Given the description of an element on the screen output the (x, y) to click on. 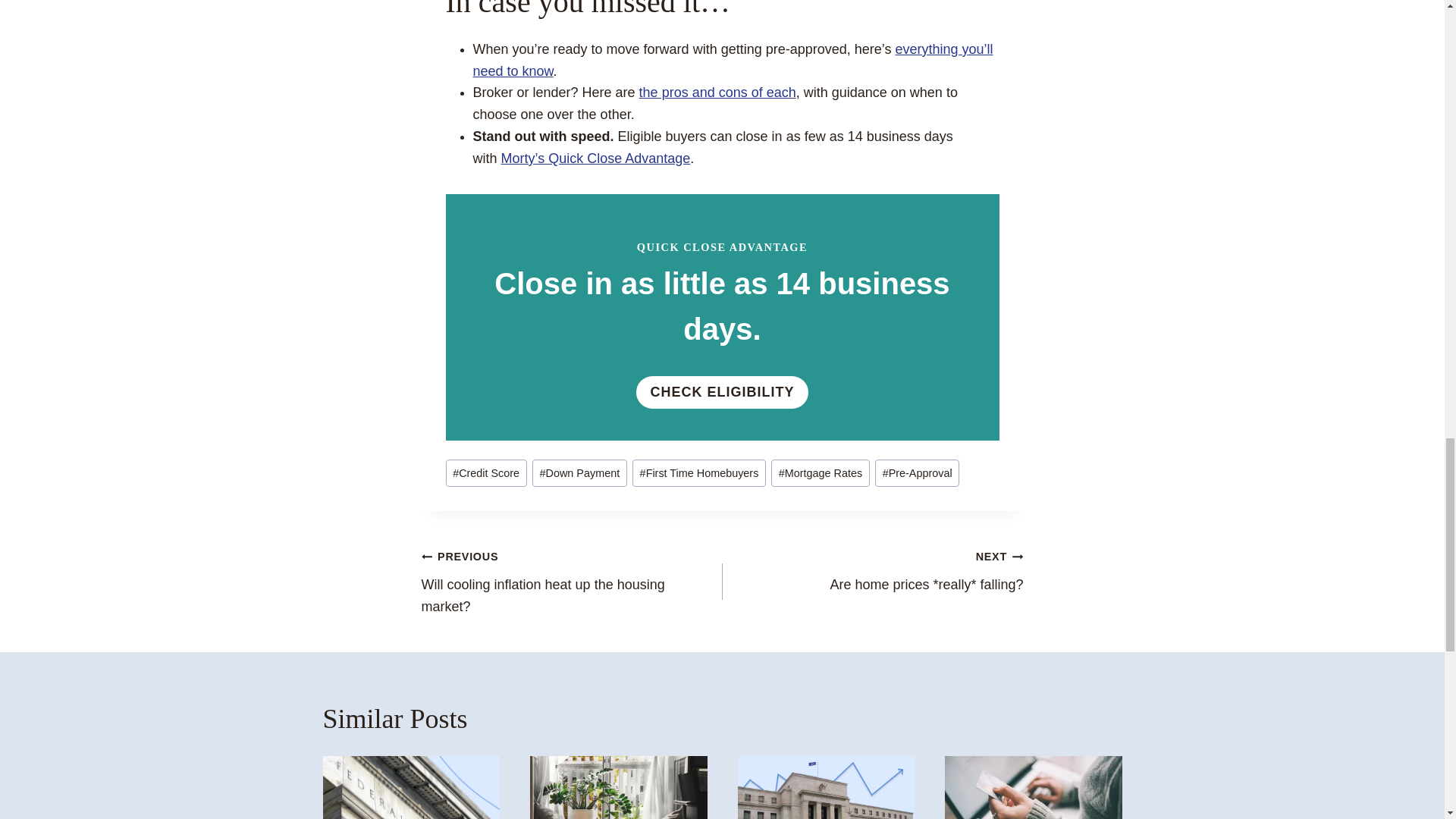
Mortgage Rates (820, 473)
First Time Homebuyers (698, 473)
Credit Score (486, 473)
Pre-Approval (917, 473)
Down Payment (579, 473)
